Given the description of an element on the screen output the (x, y) to click on. 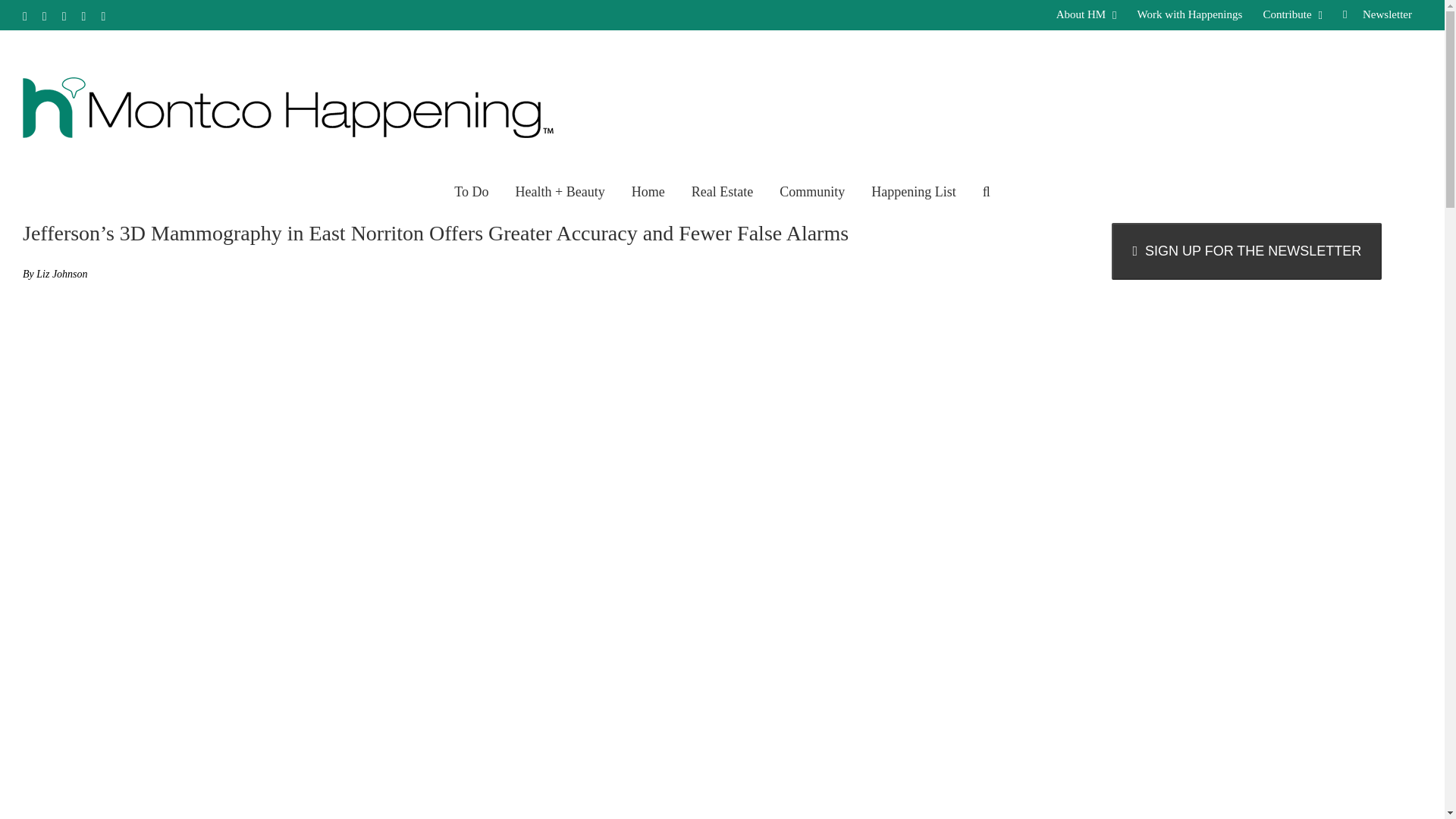
Community (811, 189)
Happening List (912, 189)
Work with Happenings (1189, 15)
Contribute (1292, 15)
About HM (1086, 15)
Real Estate (721, 189)
Newsletter (1377, 15)
